Given the description of an element on the screen output the (x, y) to click on. 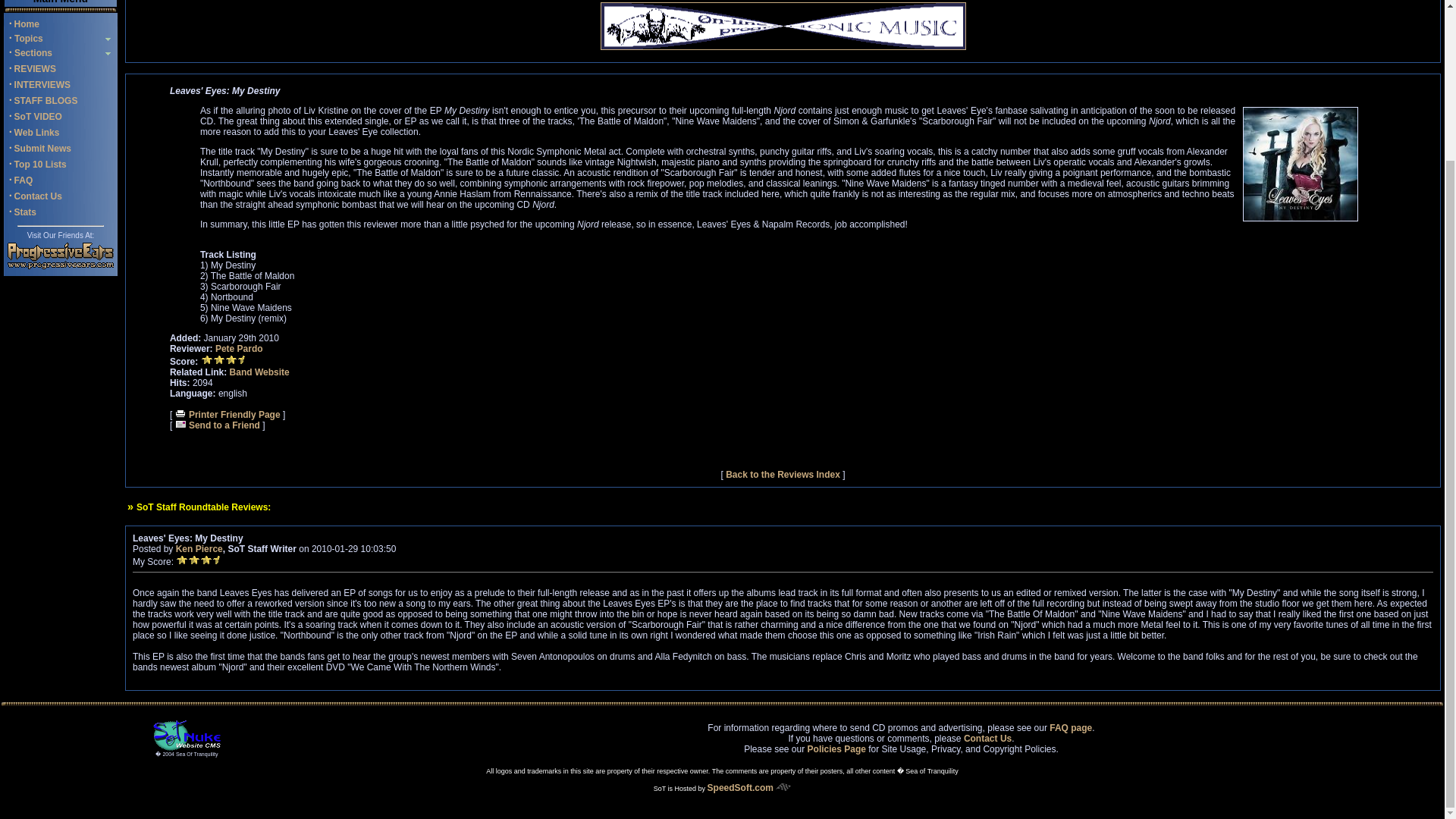
Stats (25, 212)
Ken Pierce (199, 548)
Policies Page (837, 748)
Web Links (36, 132)
INTERVIEWS (41, 84)
REVIEWS (35, 68)
Printer Friendly Page (227, 414)
FAQ page (1070, 727)
Contact Us (987, 738)
SoT VIDEO (38, 116)
